Given the description of an element on the screen output the (x, y) to click on. 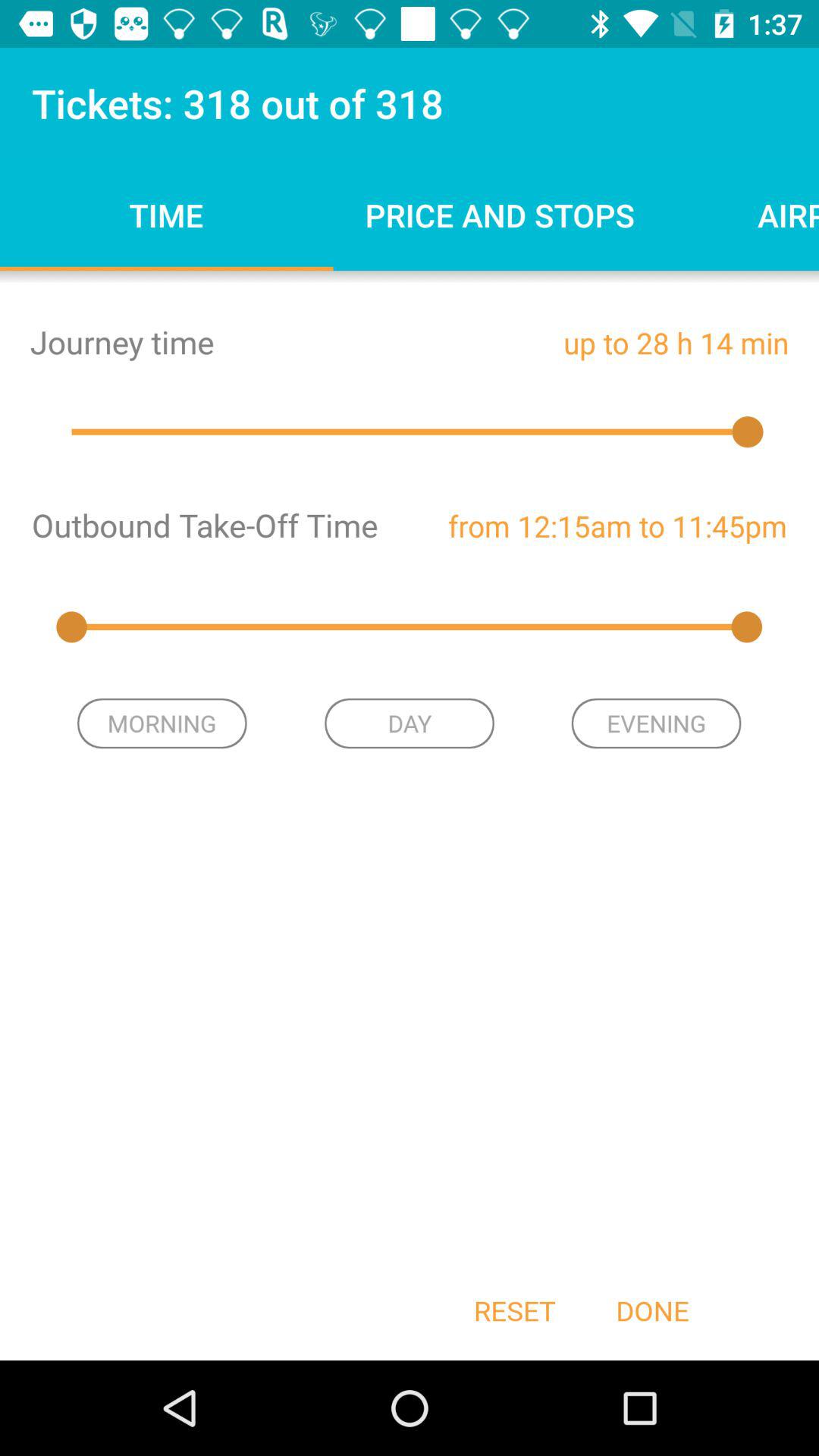
turn off the item to the left of the evening item (409, 723)
